Given the description of an element on the screen output the (x, y) to click on. 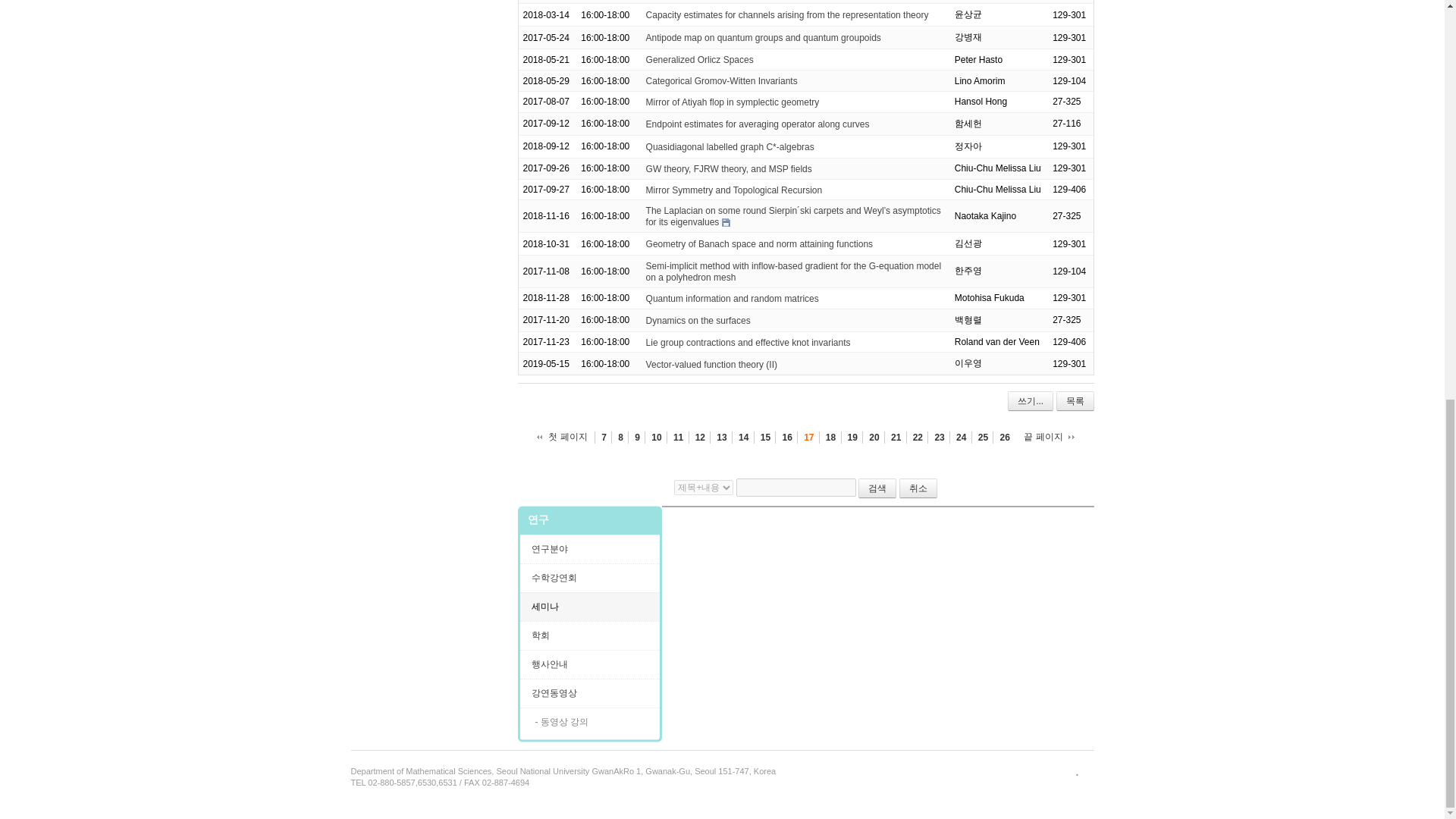
file (726, 222)
